Given the description of an element on the screen output the (x, y) to click on. 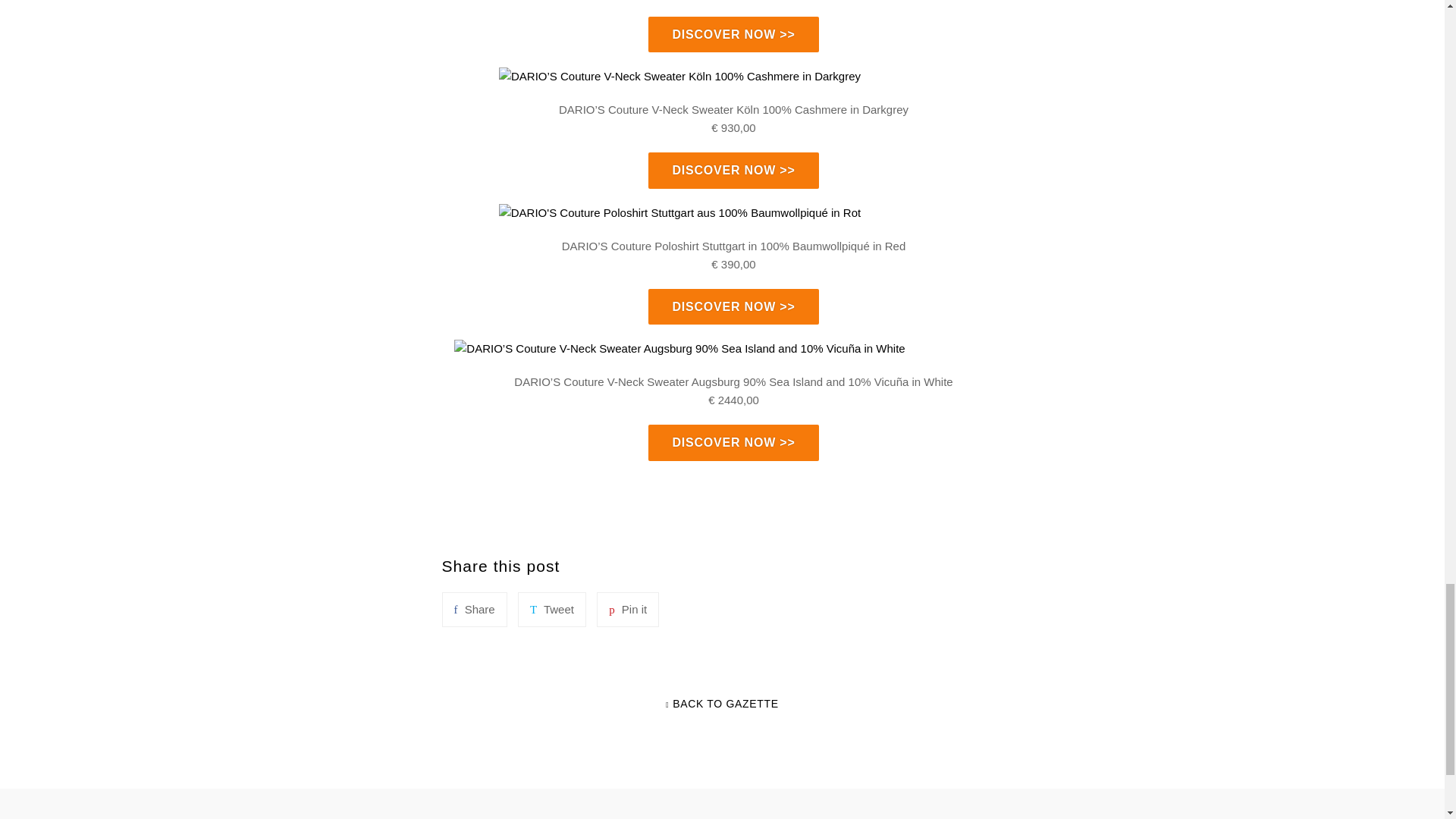
Tweet on Twitter (552, 609)
Pin on Pinterest (627, 609)
Share on Facebook (473, 609)
